Given the description of an element on the screen output the (x, y) to click on. 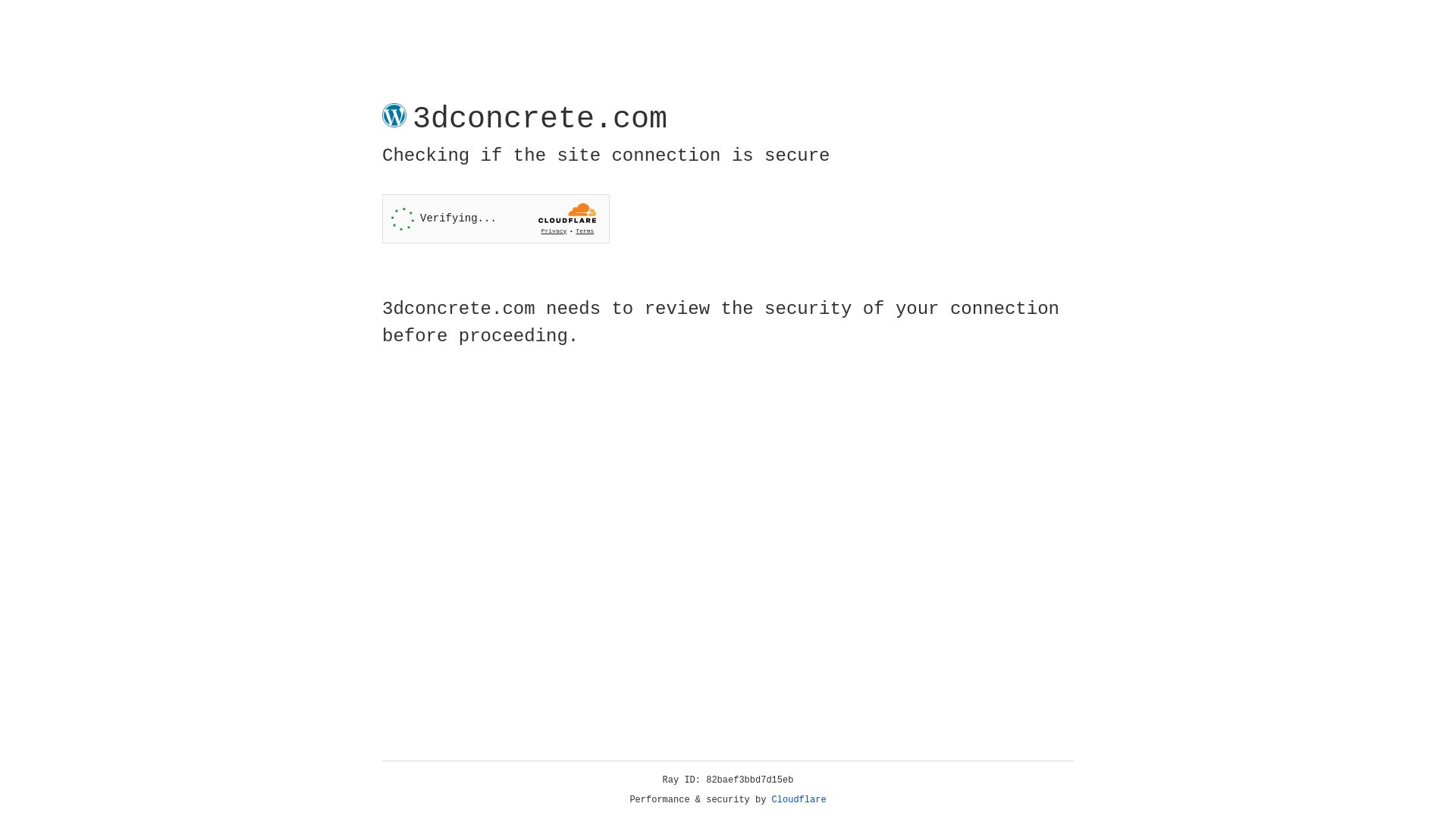
Cloudflare Element type: text (798, 799)
Widget containing a Cloudflare security challenge Element type: hover (495, 218)
